Given the description of an element on the screen output the (x, y) to click on. 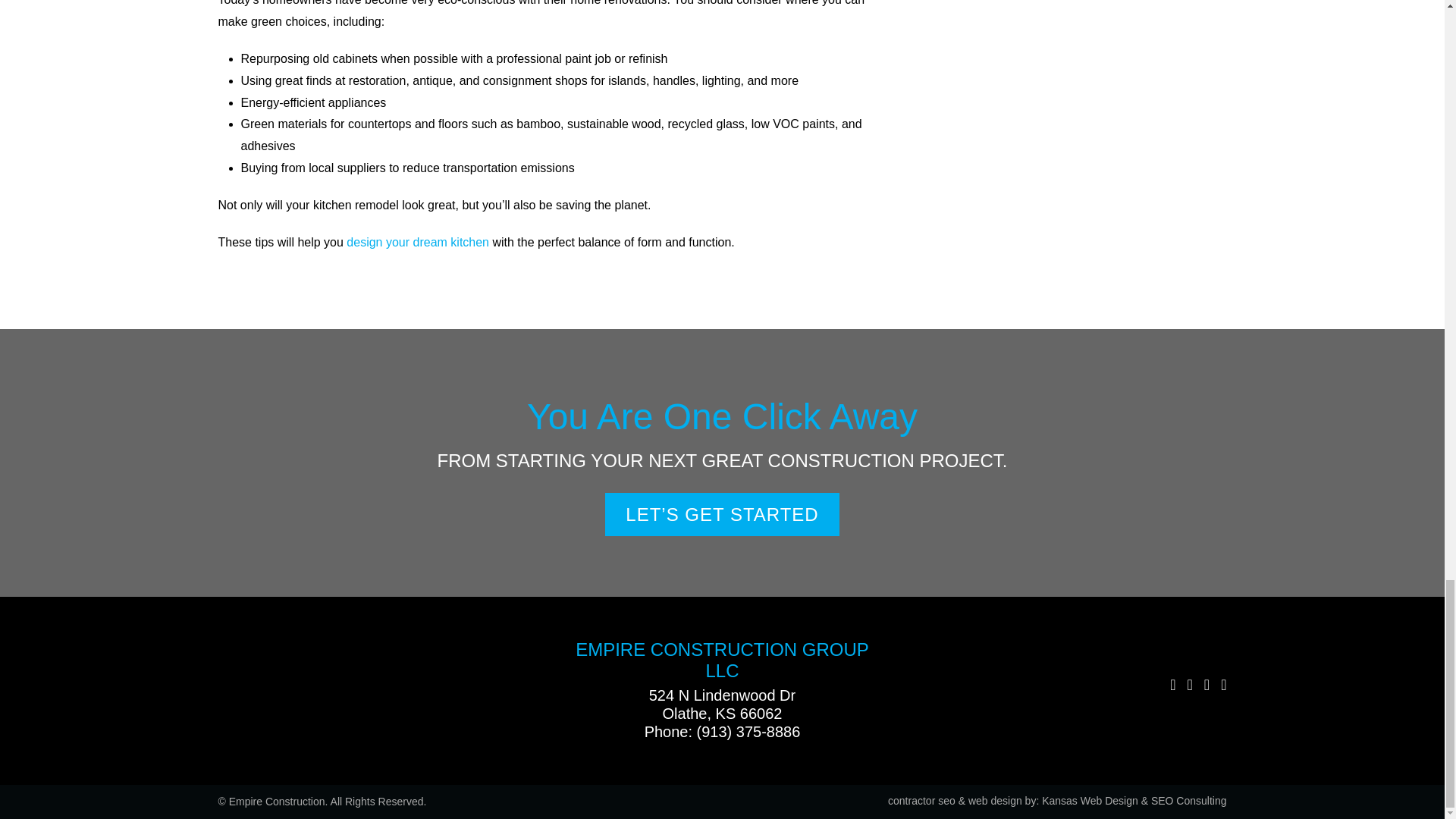
view more (721, 514)
design your dream kitchen (417, 241)
